Given the description of an element on the screen output the (x, y) to click on. 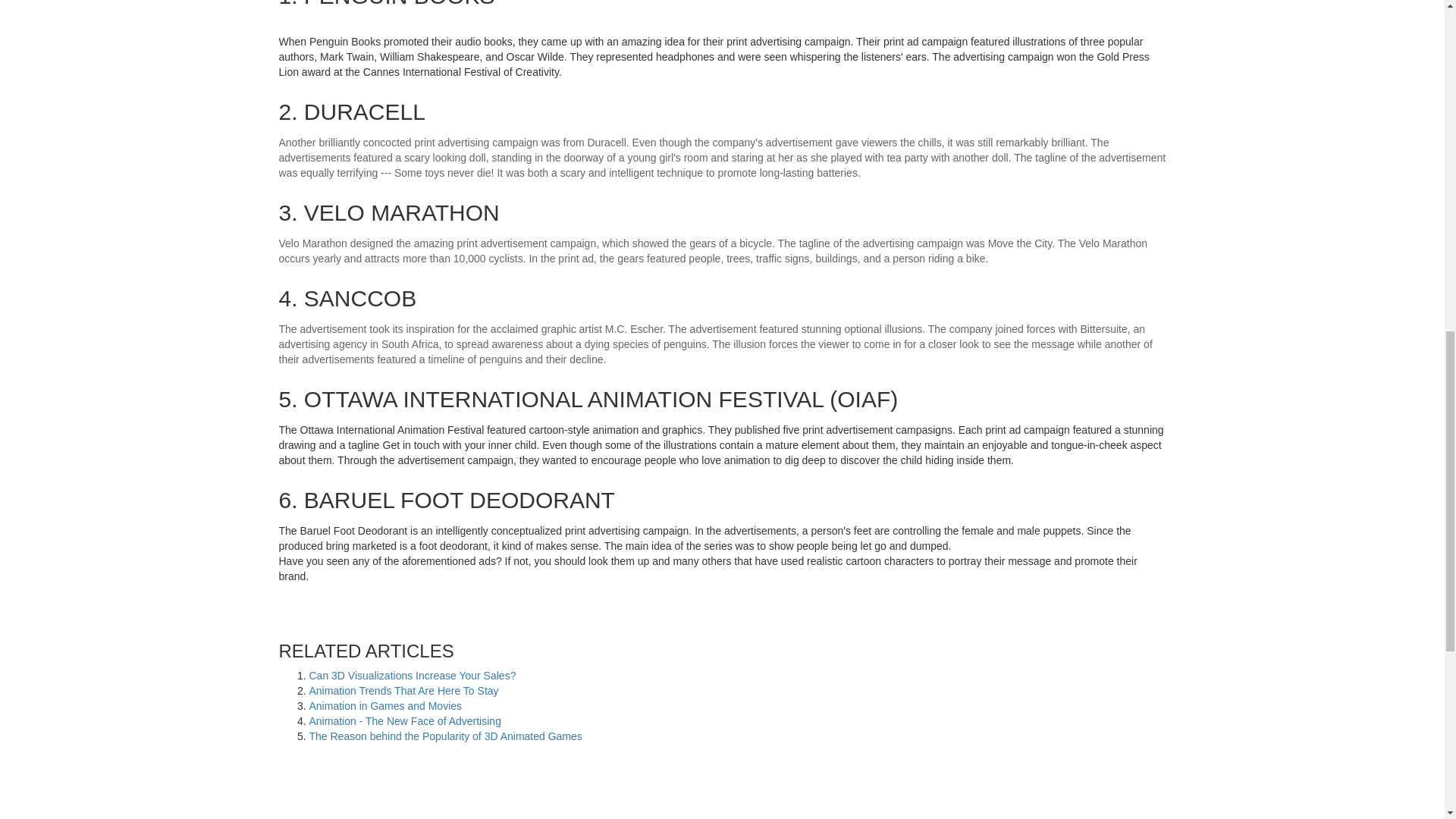
Animation Trends That Are Here To Stay (403, 690)
Animation - The New Face of Advertising (404, 720)
The Reason behind the Popularity of 3D Animated Games (445, 736)
The Reason behind the Popularity of 3D Animated Games (445, 736)
Animation - The New Face of Advertising (404, 720)
Can 3D Visualizations Increase Your Sales? (412, 675)
Animation Trends That Are Here To Stay (403, 690)
Can 3D Visualizations Increase Your Sales? (412, 675)
Animation in Games and Movies (385, 705)
Animation in Games and Movies (385, 705)
